Given the description of an element on the screen output the (x, y) to click on. 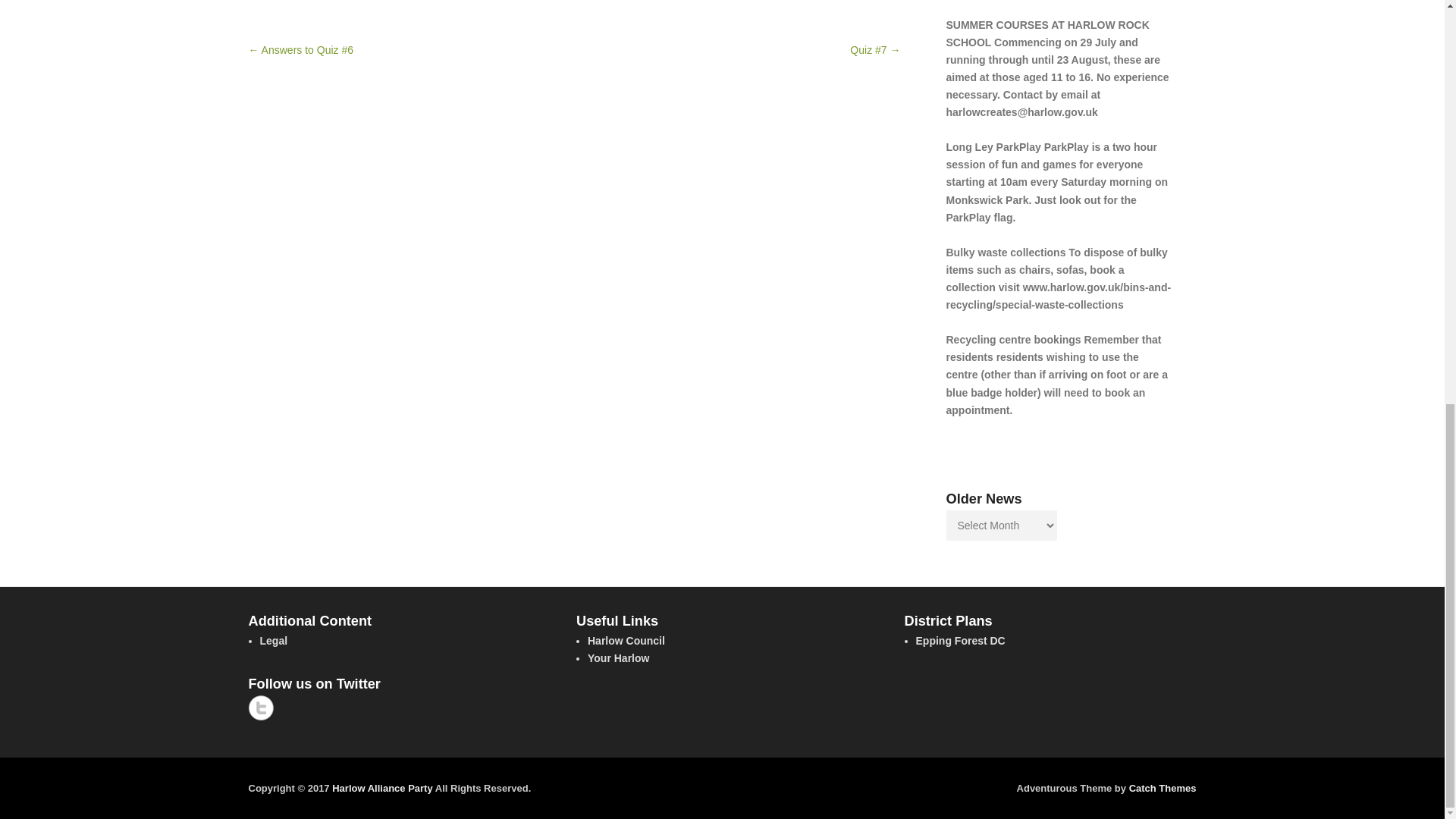
Catch Themes (1162, 787)
Twitter (260, 707)
Harlow Alliance Party (381, 787)
